Given the description of an element on the screen output the (x, y) to click on. 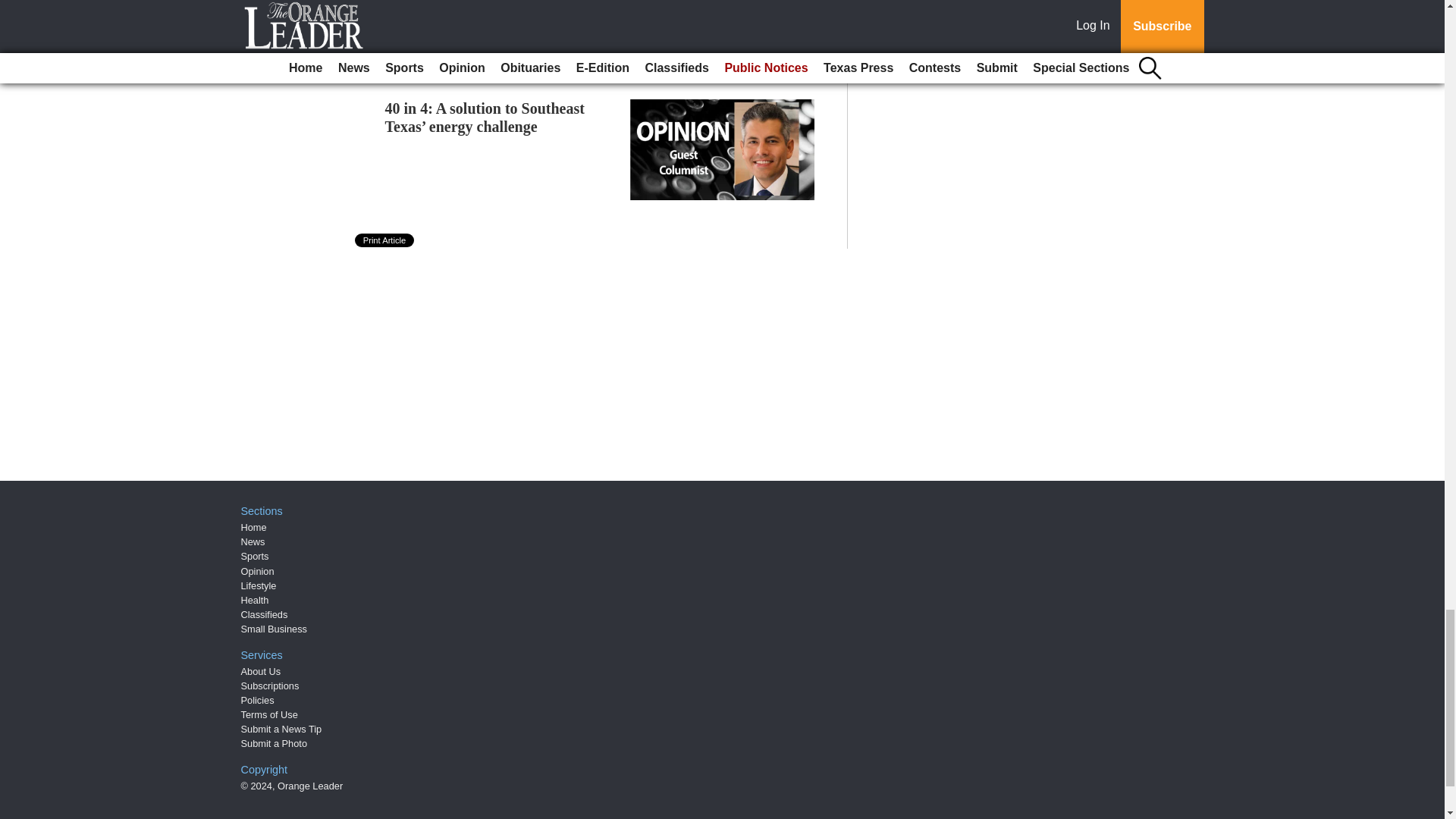
Print Article (384, 240)
